Given the description of an element on the screen output the (x, y) to click on. 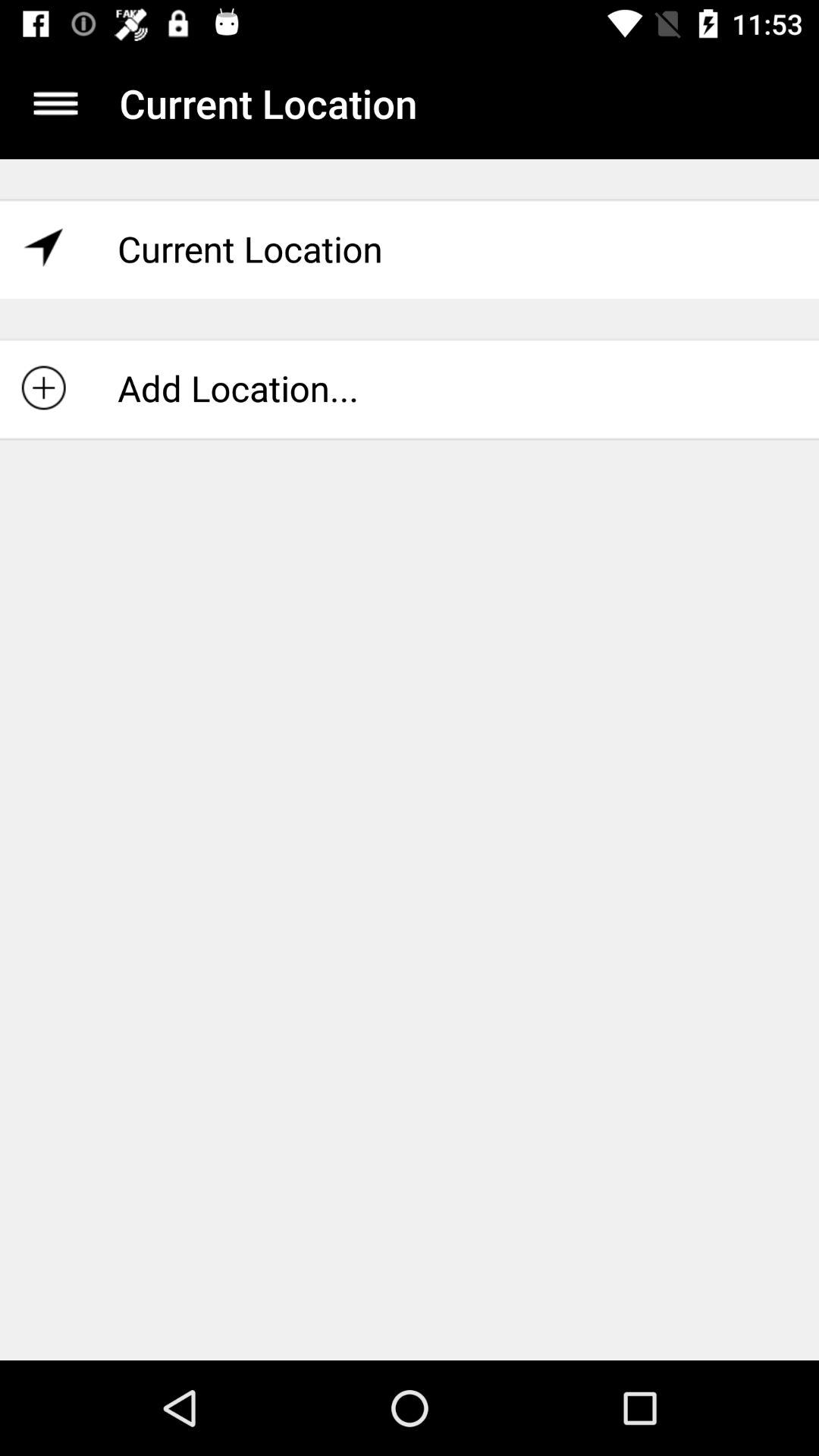
choose the item below the current location item (409, 387)
